Given the description of an element on the screen output the (x, y) to click on. 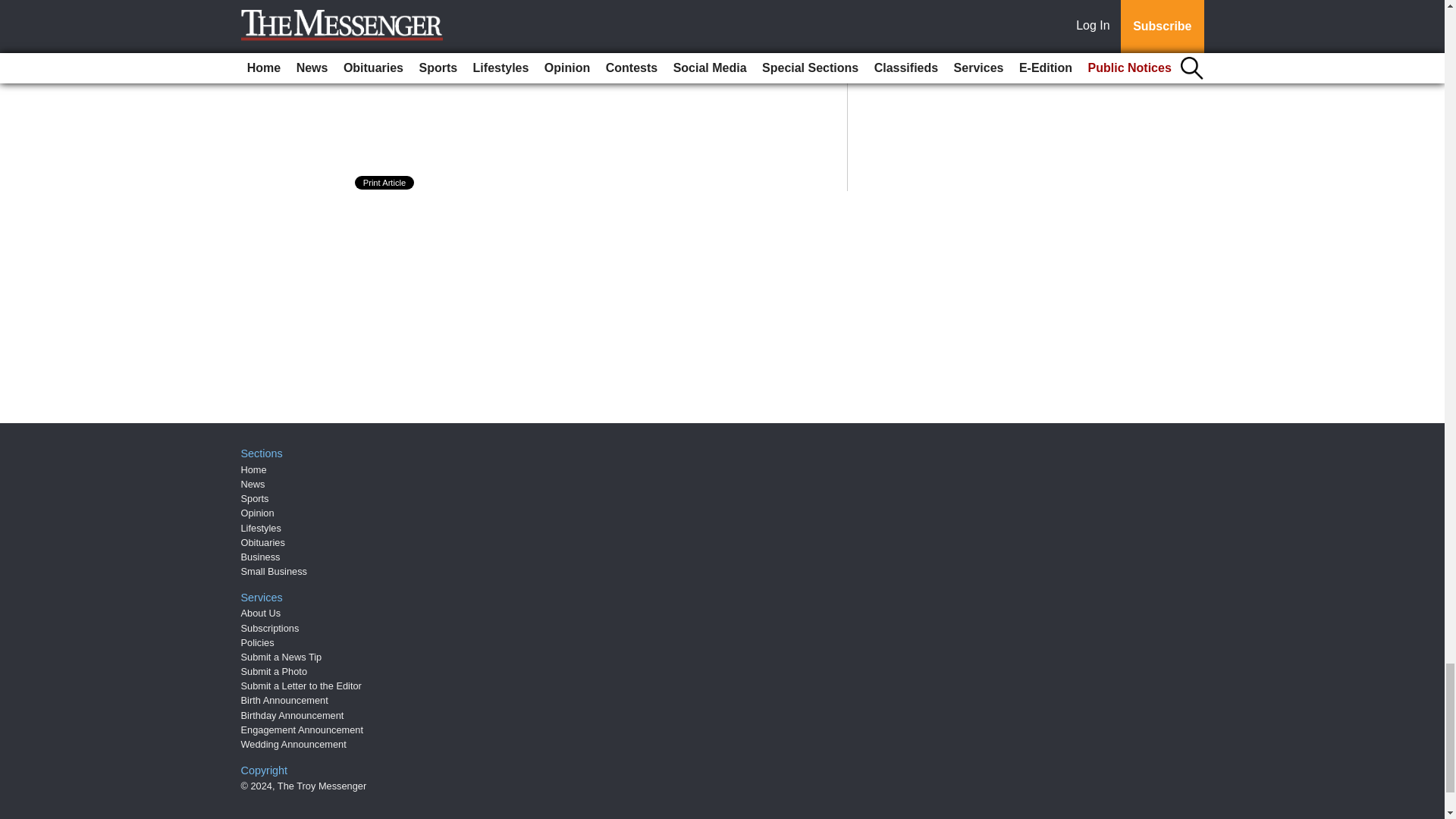
Troy All-Stars eliminated in Dixie Belles World Series (493, 59)
